Given the description of an element on the screen output the (x, y) to click on. 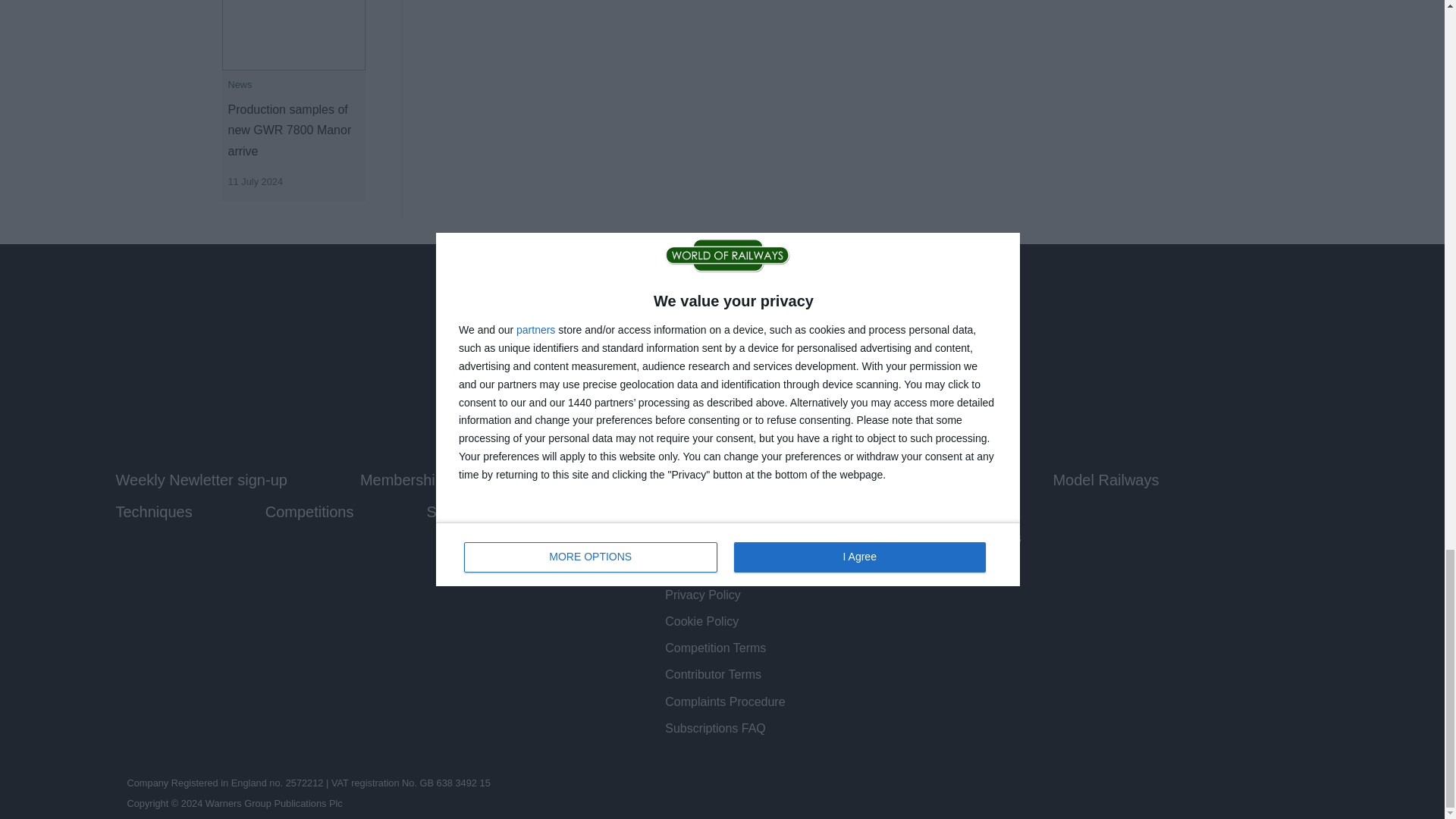
View your Advertising Consent options for this website (944, 537)
